Given the description of an element on the screen output the (x, y) to click on. 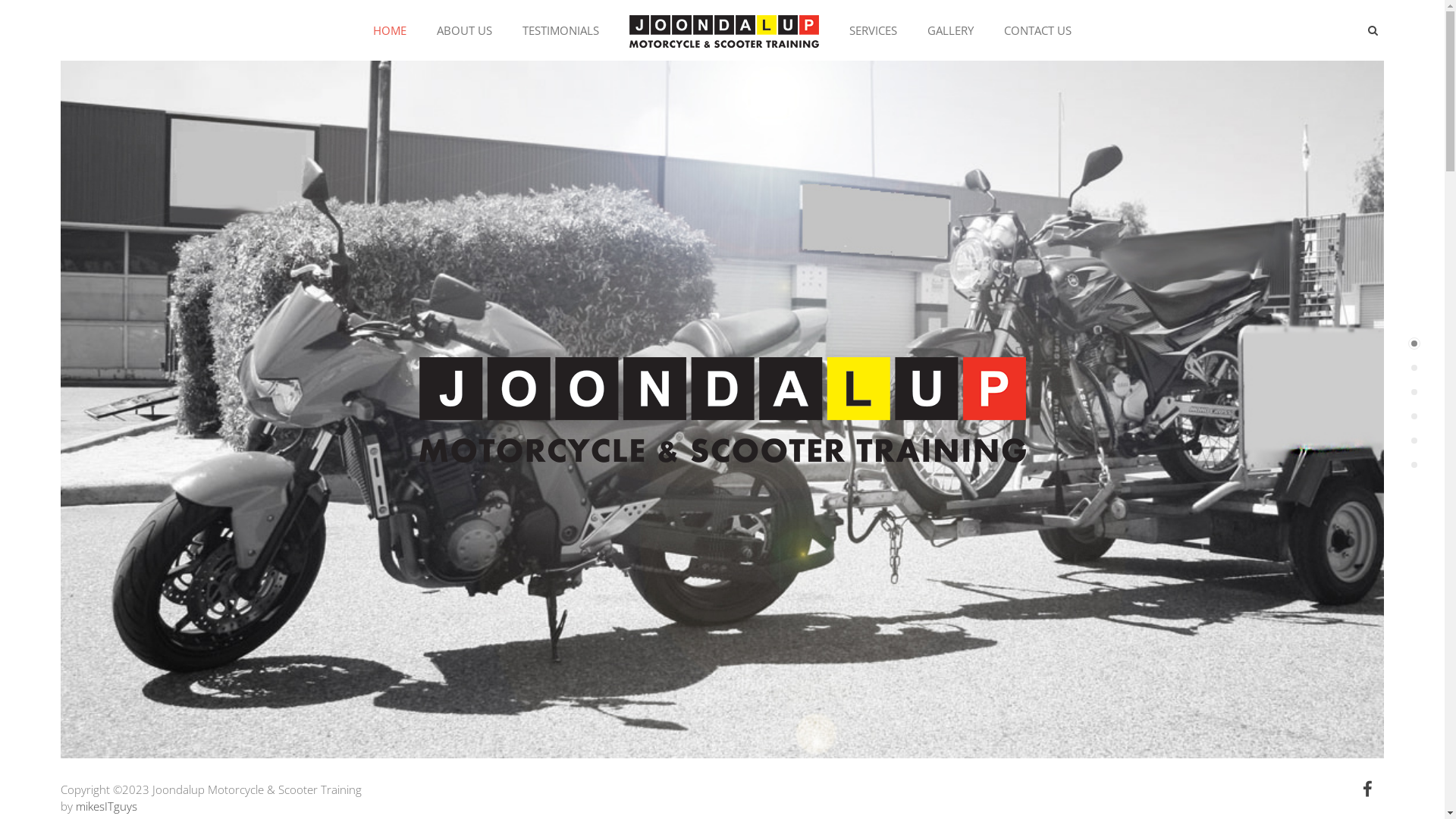
GALLERY Element type: text (950, 30)
SERVICES Element type: text (873, 30)
mikesITguys Element type: text (106, 805)
CONTACT US Element type: text (1037, 30)
ABOUT US Element type: text (464, 30)
TESTIMONIALS Element type: text (560, 30)
HOME Element type: text (389, 30)
